Given the description of an element on the screen output the (x, y) to click on. 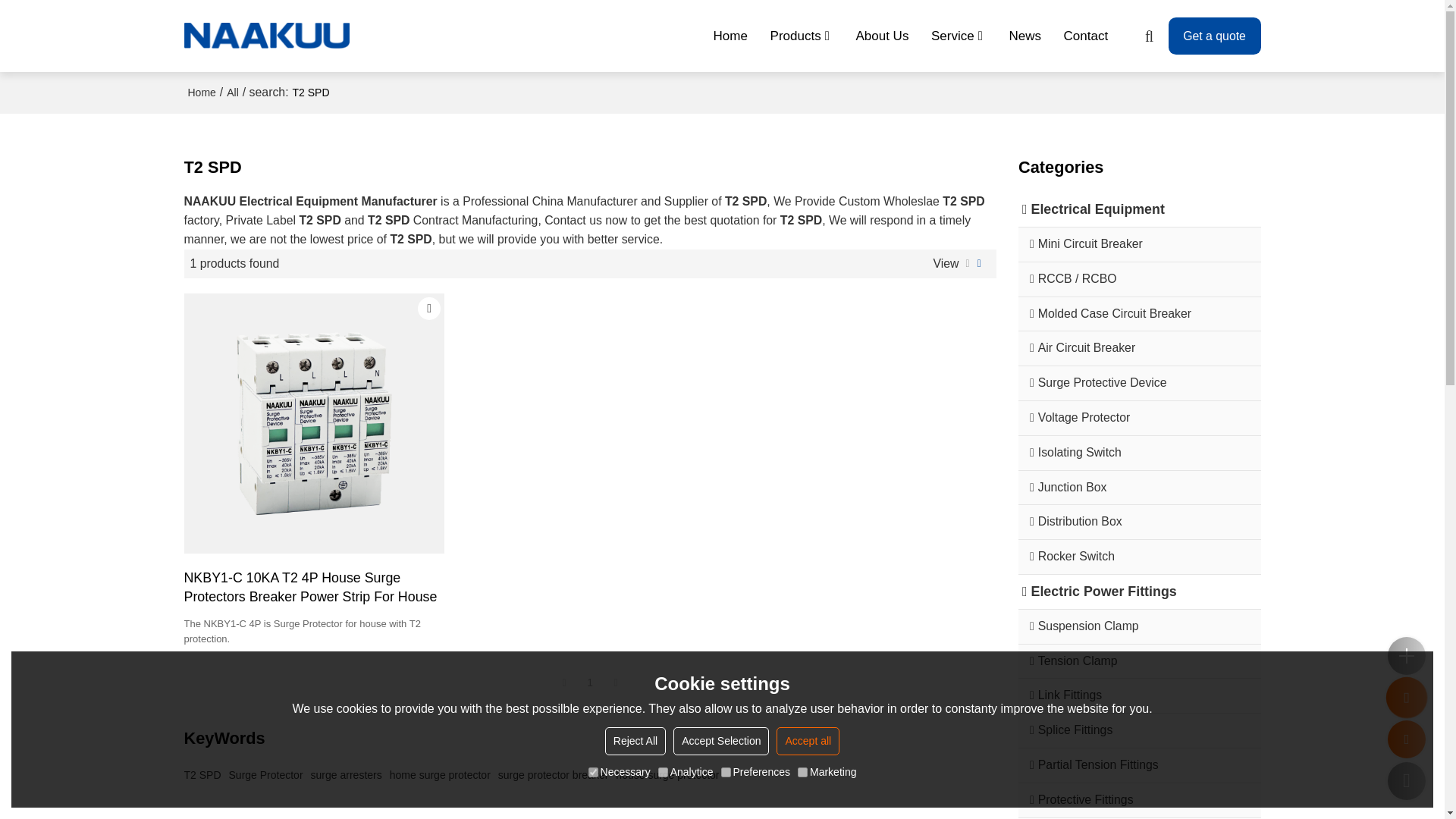
About Us (882, 36)
Service (958, 36)
on (725, 772)
Products (801, 36)
on (802, 772)
on (593, 772)
Get a quote (1214, 36)
on (663, 772)
Naakuu Power Hitech Co., Ltd (266, 36)
Products (801, 36)
